Given the description of an element on the screen output the (x, y) to click on. 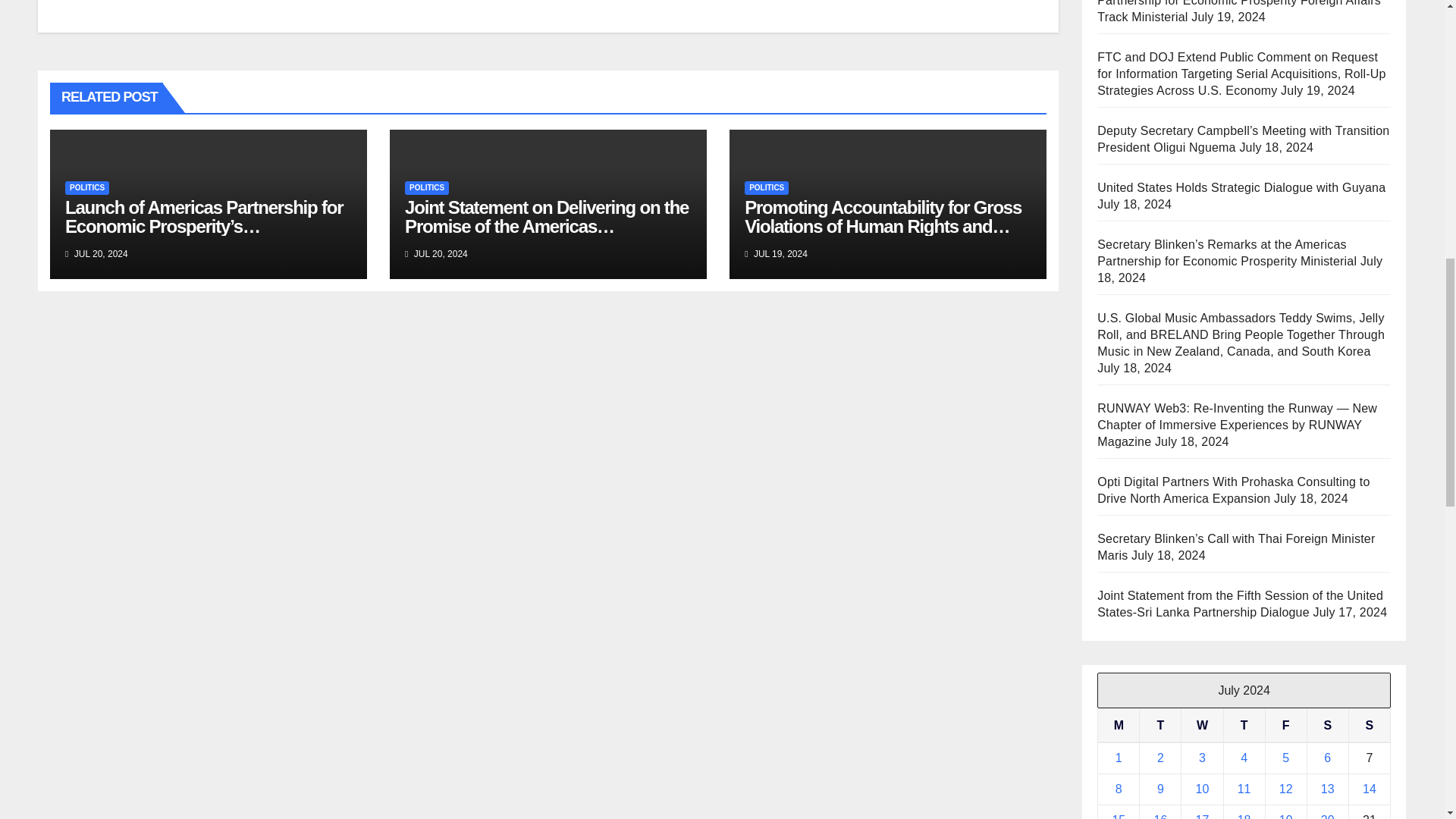
Thursday (1244, 725)
Tuesday (1160, 725)
POLITICS (87, 187)
Friday (1285, 725)
Monday (1118, 725)
POLITICS (426, 187)
Sunday (1369, 725)
POLITICS (766, 187)
Wednesday (1201, 725)
Saturday (1327, 725)
